Given the description of an element on the screen output the (x, y) to click on. 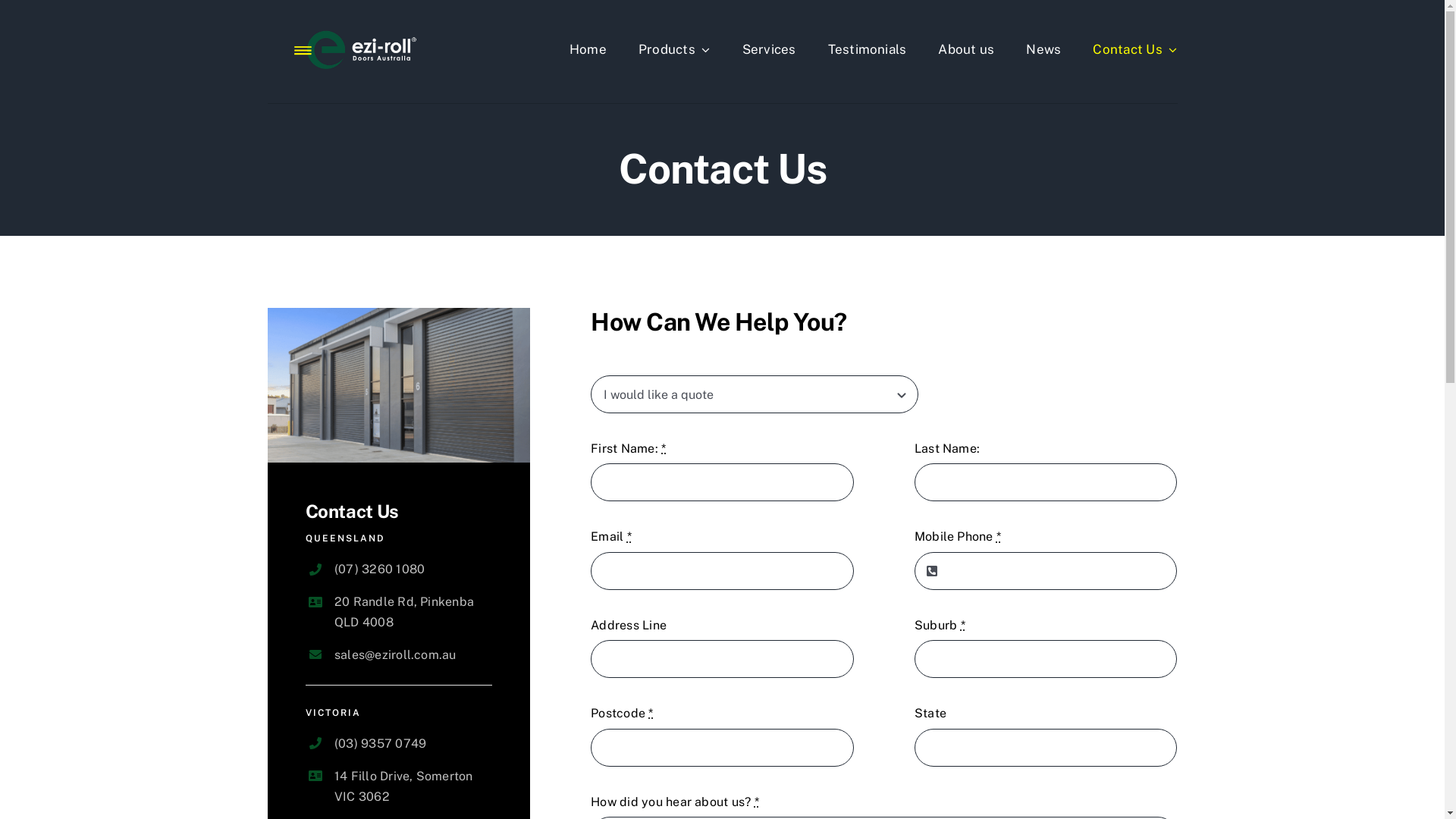
Services Element type: text (769, 49)
20 Randle Rd, Pinkenba QLD 4008 Element type: text (403, 611)
(07) 3260 1080 Element type: text (379, 568)
Testimonials Element type: text (867, 49)
product-01 Element type: hover (398, 385)
(03) 9357 0749 Element type: text (380, 743)
About us Element type: text (966, 49)
Home Element type: text (587, 49)
sales@eziroll.com.au Element type: text (395, 654)
Products Element type: text (674, 49)
Contact Us Element type: text (1134, 49)
14 Fillo Drive, Somerton VIC 3062 Element type: text (403, 785)
News Element type: text (1043, 49)
